Given the description of an element on the screen output the (x, y) to click on. 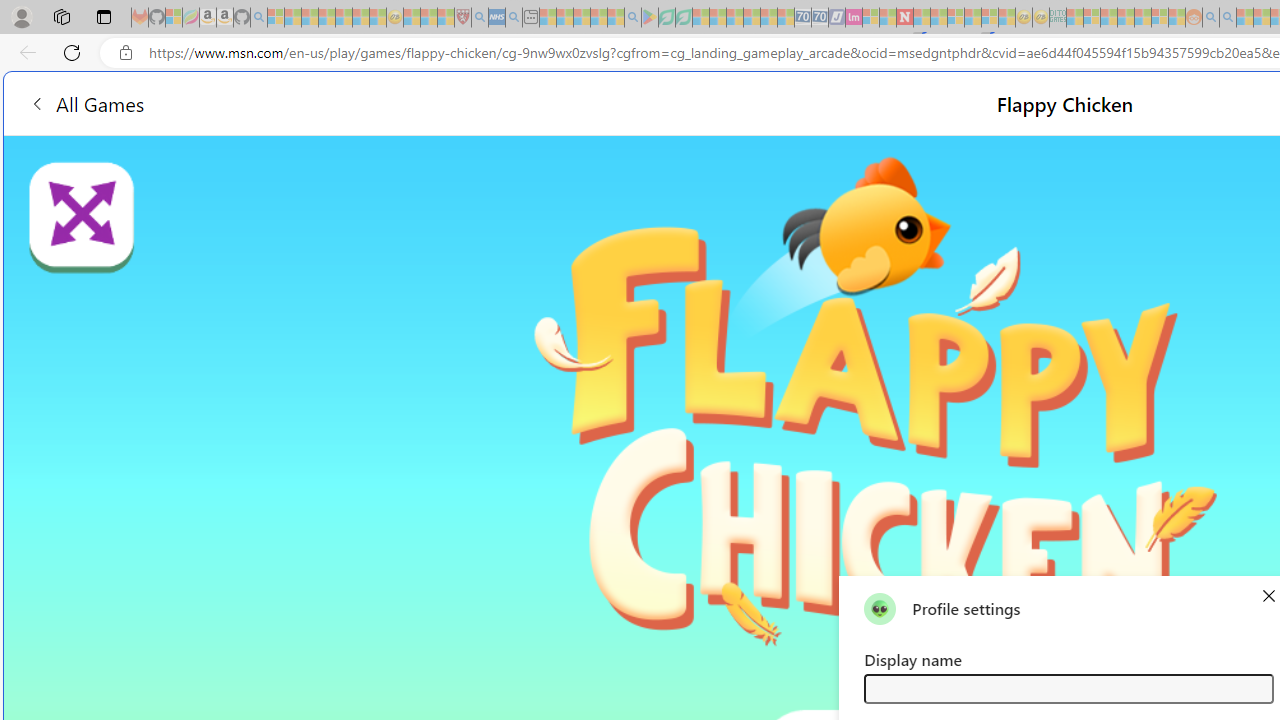
google - Search - Sleeping (632, 17)
Local - MSN - Sleeping (445, 17)
